Given the description of an element on the screen output the (x, y) to click on. 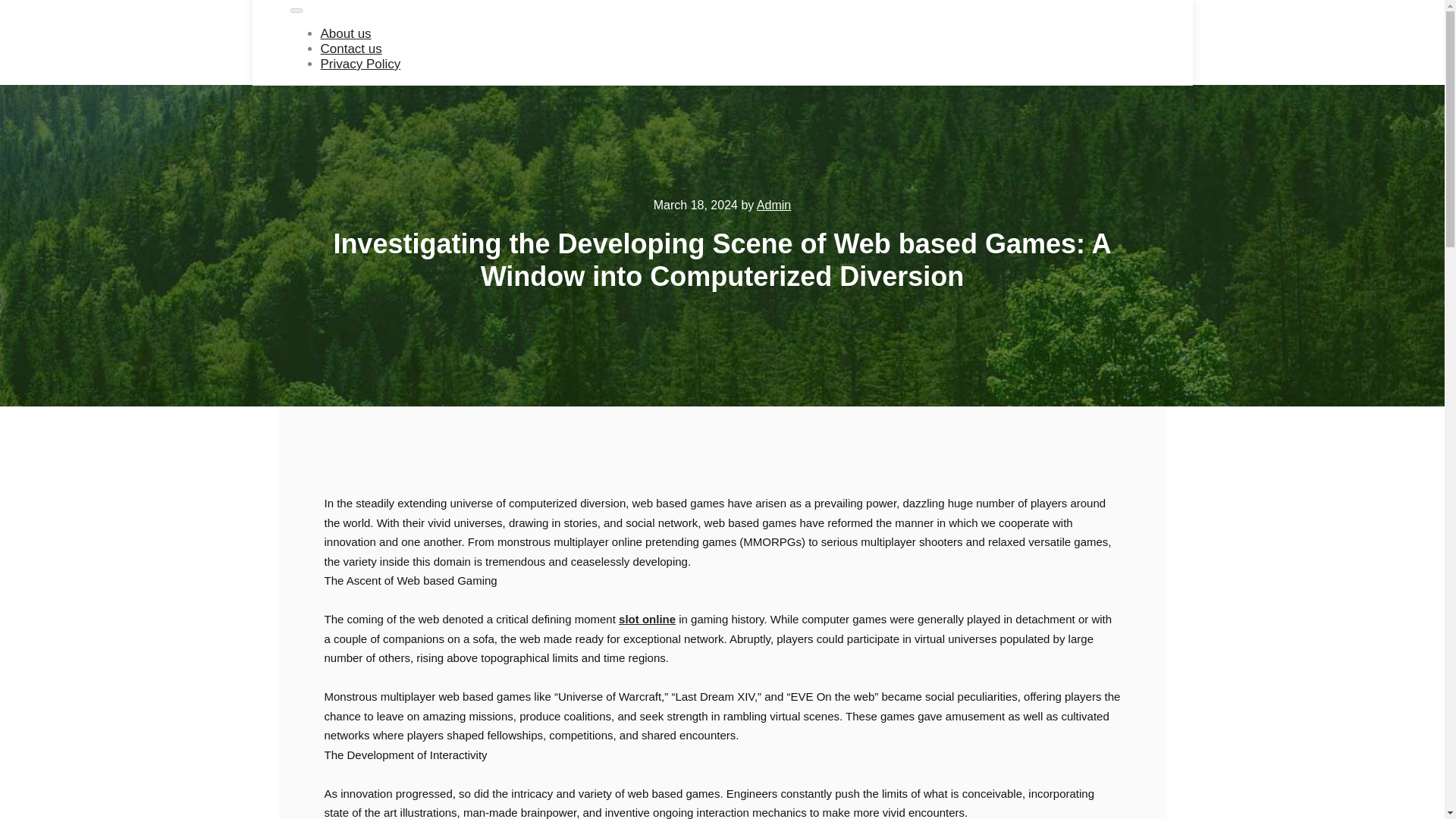
Privacy Policy (360, 63)
slot online (646, 618)
View all posts by Admin (773, 205)
Contact us (350, 48)
About us (345, 33)
Admin (773, 205)
